Given the description of an element on the screen output the (x, y) to click on. 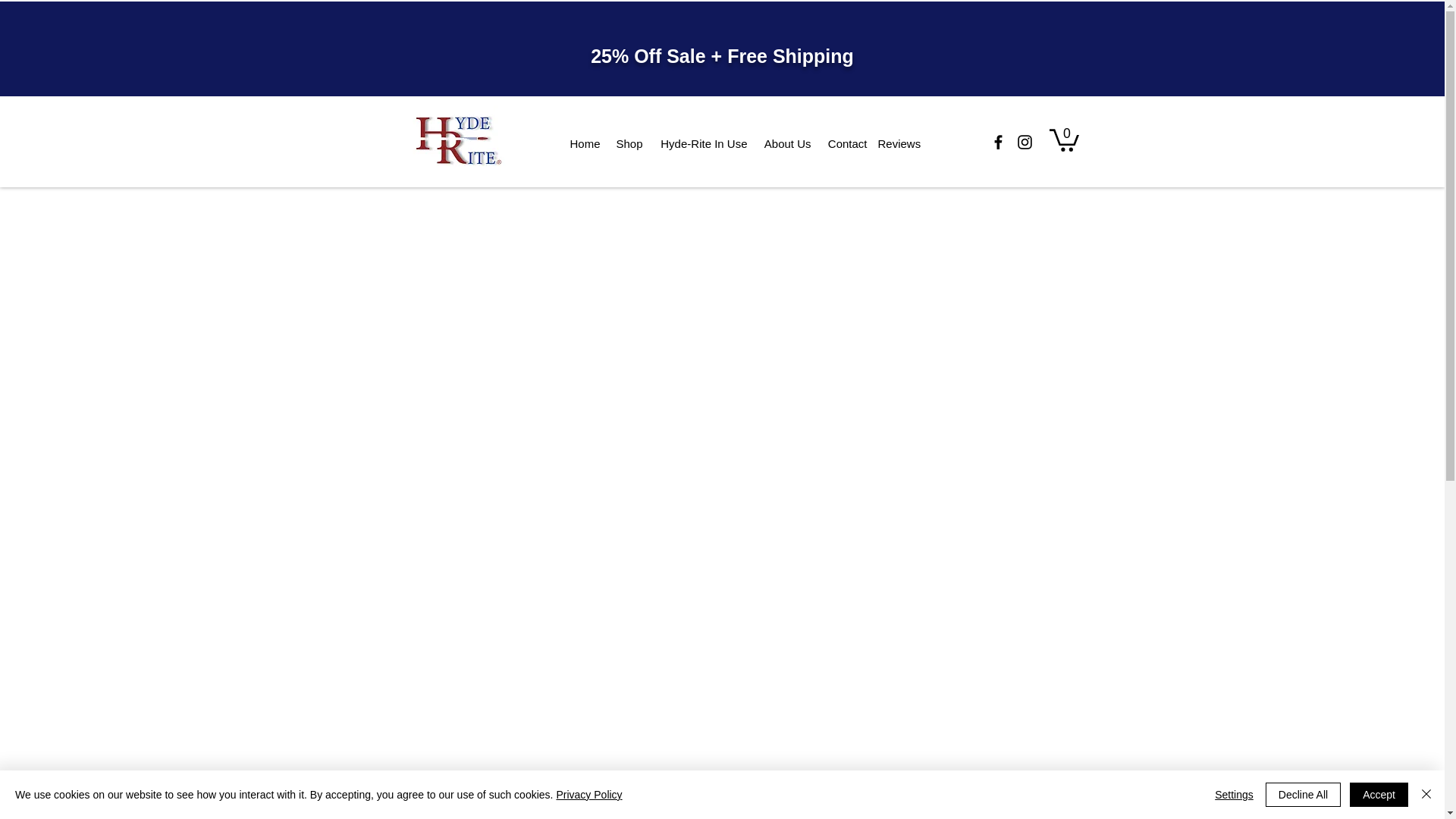
0 (1063, 138)
Reviews (899, 143)
About Us (786, 143)
Shop (629, 143)
Accept (1378, 794)
Contact (846, 143)
Decline All (1302, 794)
Home (583, 143)
Hyde-Rite In Use (702, 143)
0 (1063, 138)
Privacy Policy (588, 794)
